Given the description of an element on the screen output the (x, y) to click on. 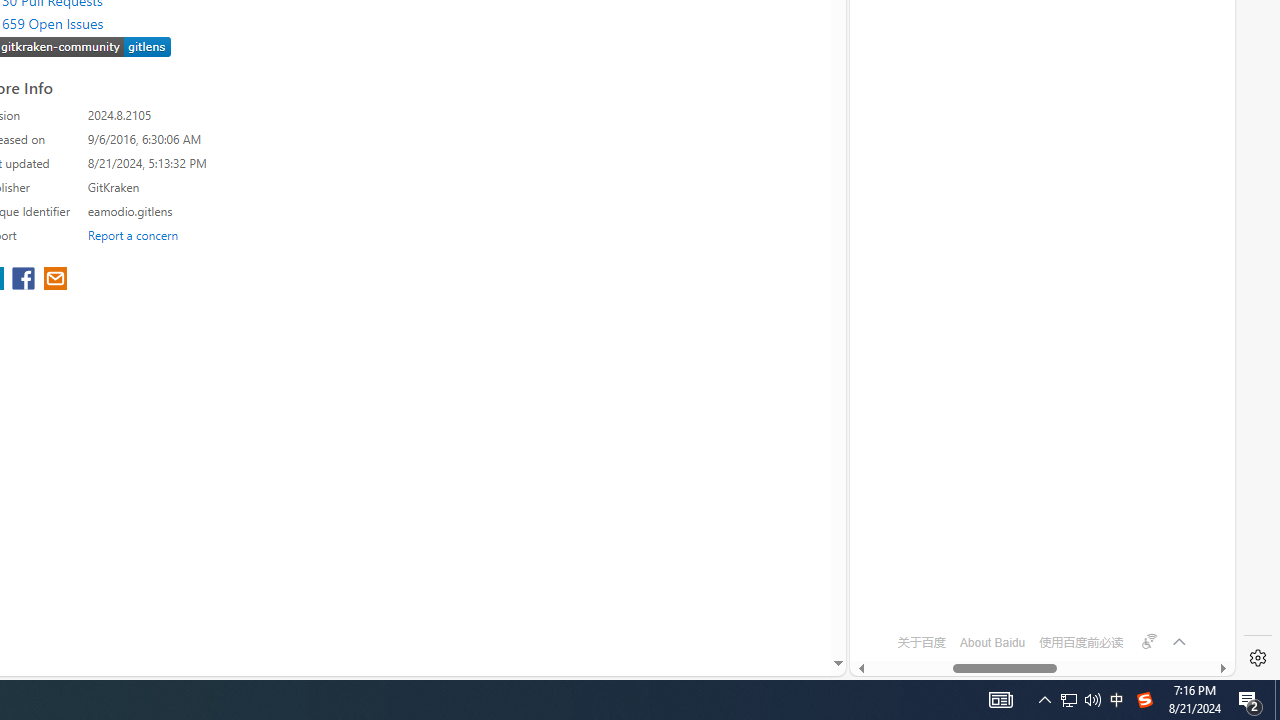
Report a concern (133, 234)
